Given the description of an element on the screen output the (x, y) to click on. 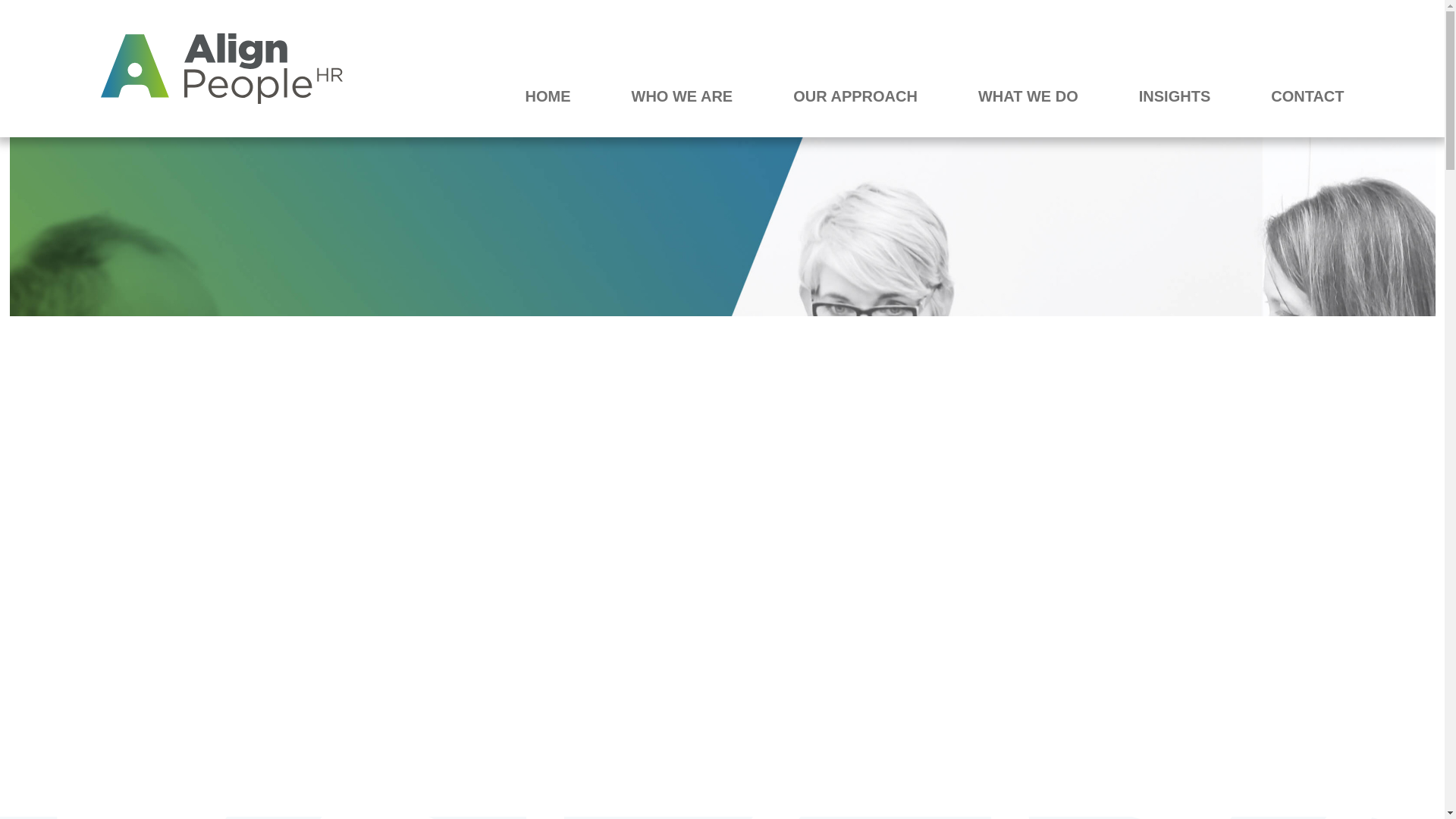
WHO WE ARE (682, 95)
CONTACT (1307, 95)
WHAT WE DO (1028, 95)
OUR APPROACH (855, 95)
HOME (547, 95)
INSIGHTS (1173, 95)
